Given the description of an element on the screen output the (x, y) to click on. 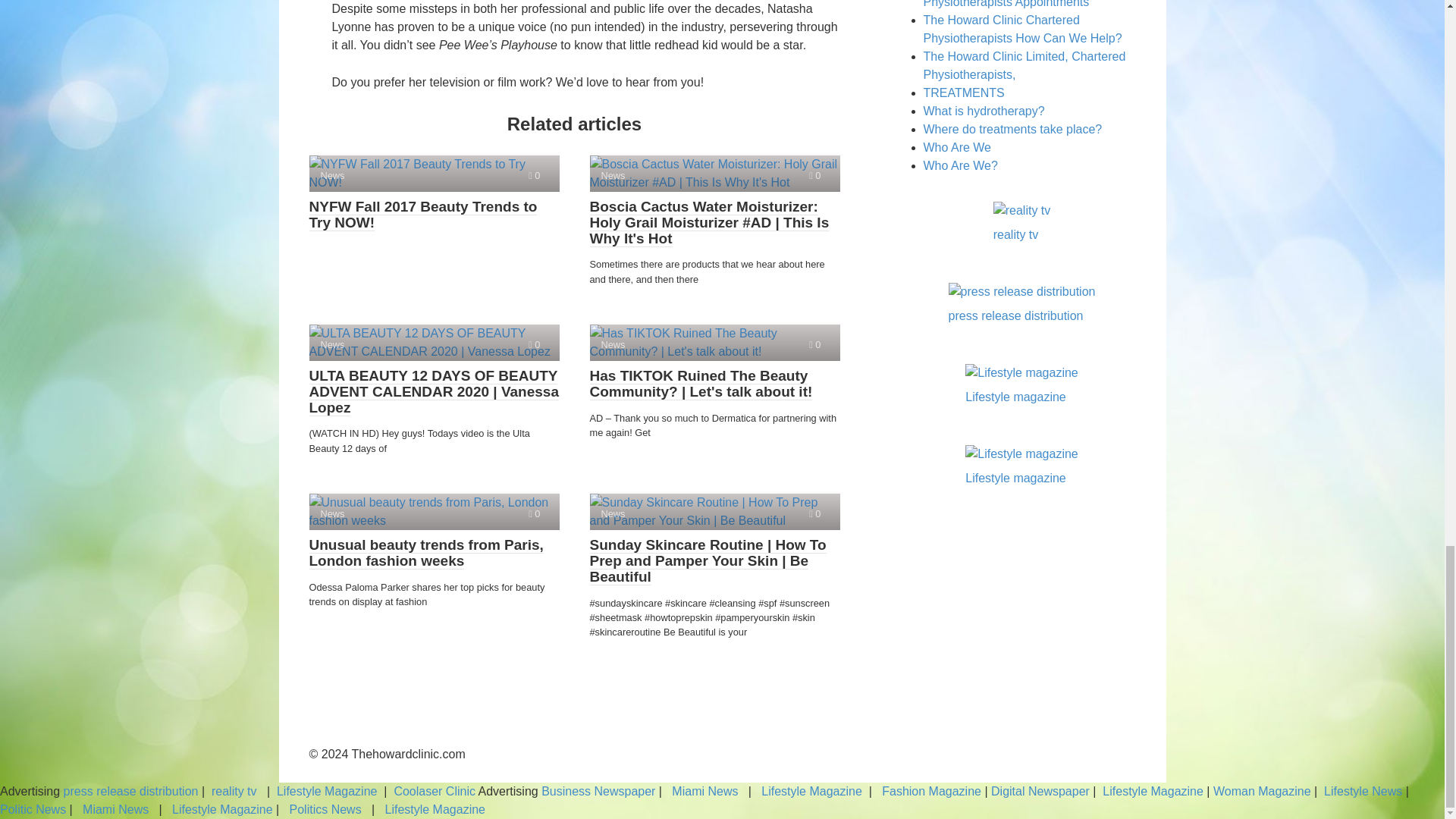
Comments (815, 174)
Comments (534, 174)
NYFW Fall 2017 Beauty Trends to Try NOW! (433, 173)
Unusual beauty trends from Paris, London fashion weeks (433, 511)
Comments (534, 344)
Comments (815, 513)
Comments (534, 513)
Comments (815, 344)
